Given the description of an element on the screen output the (x, y) to click on. 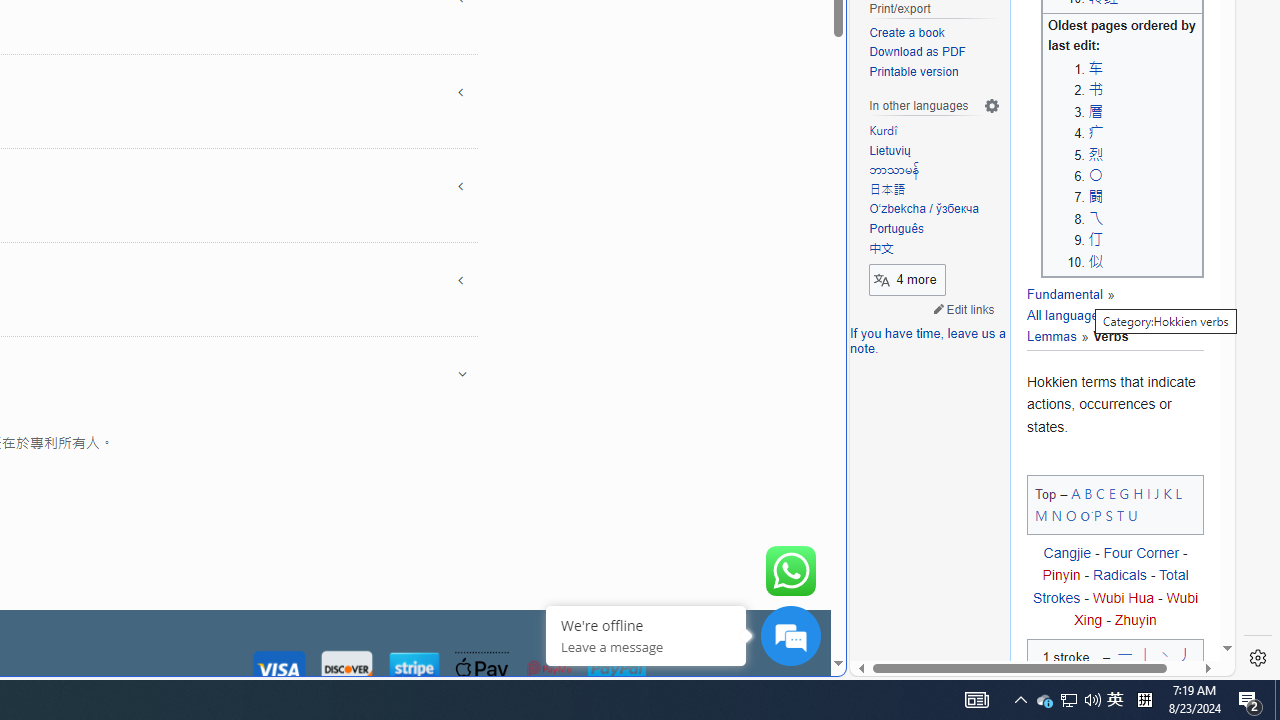
1 stroke (1065, 661)
Create a book (934, 33)
Language settings (992, 106)
A (1076, 492)
K (1167, 492)
Zhuyin (1135, 620)
If you have time, leave us a note. (927, 341)
All languages (1065, 316)
